Given the description of an element on the screen output the (x, y) to click on. 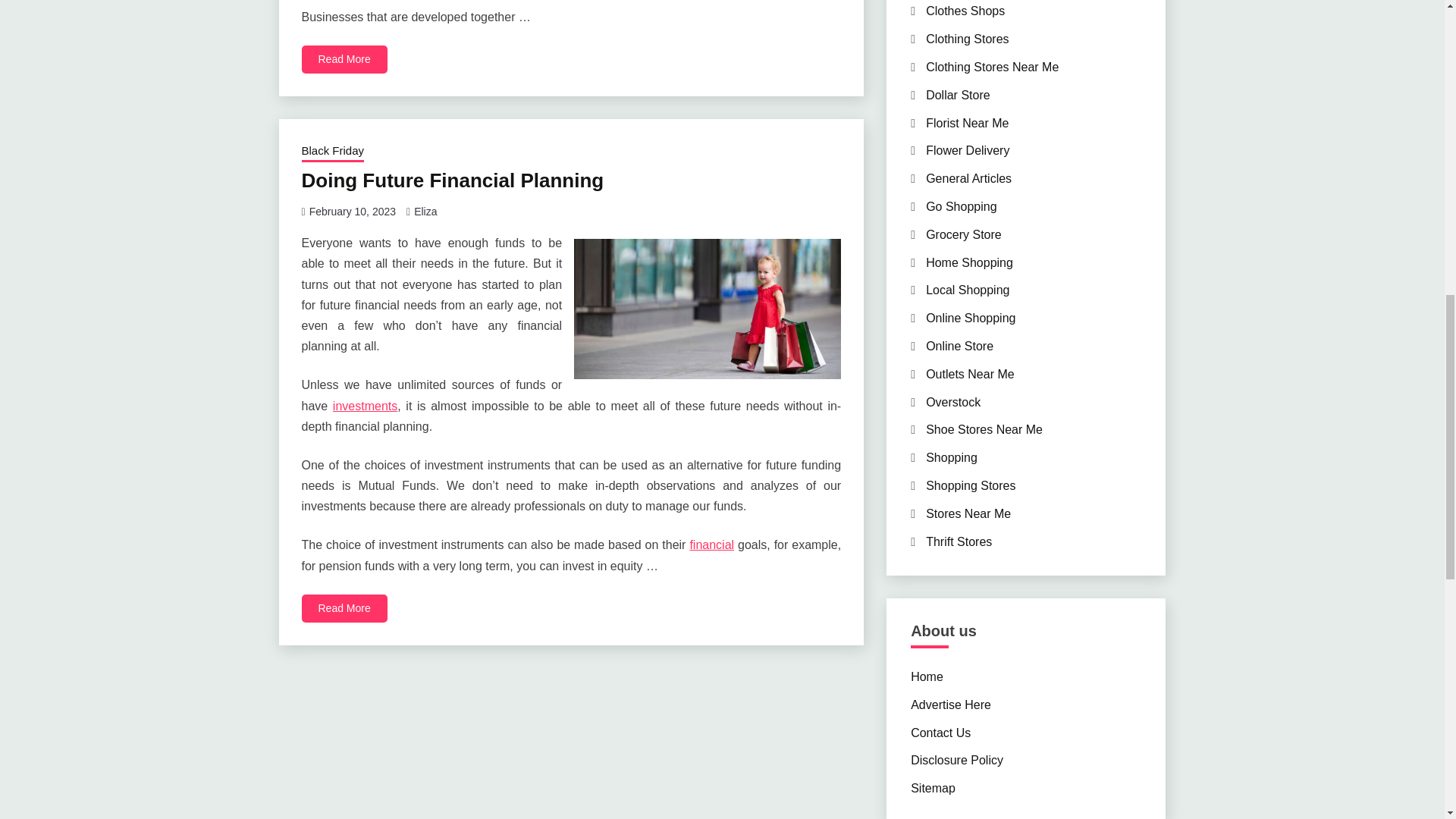
Doing Future Financial Planning (452, 179)
Read More (344, 59)
Black Friday (333, 152)
